Given the description of an element on the screen output the (x, y) to click on. 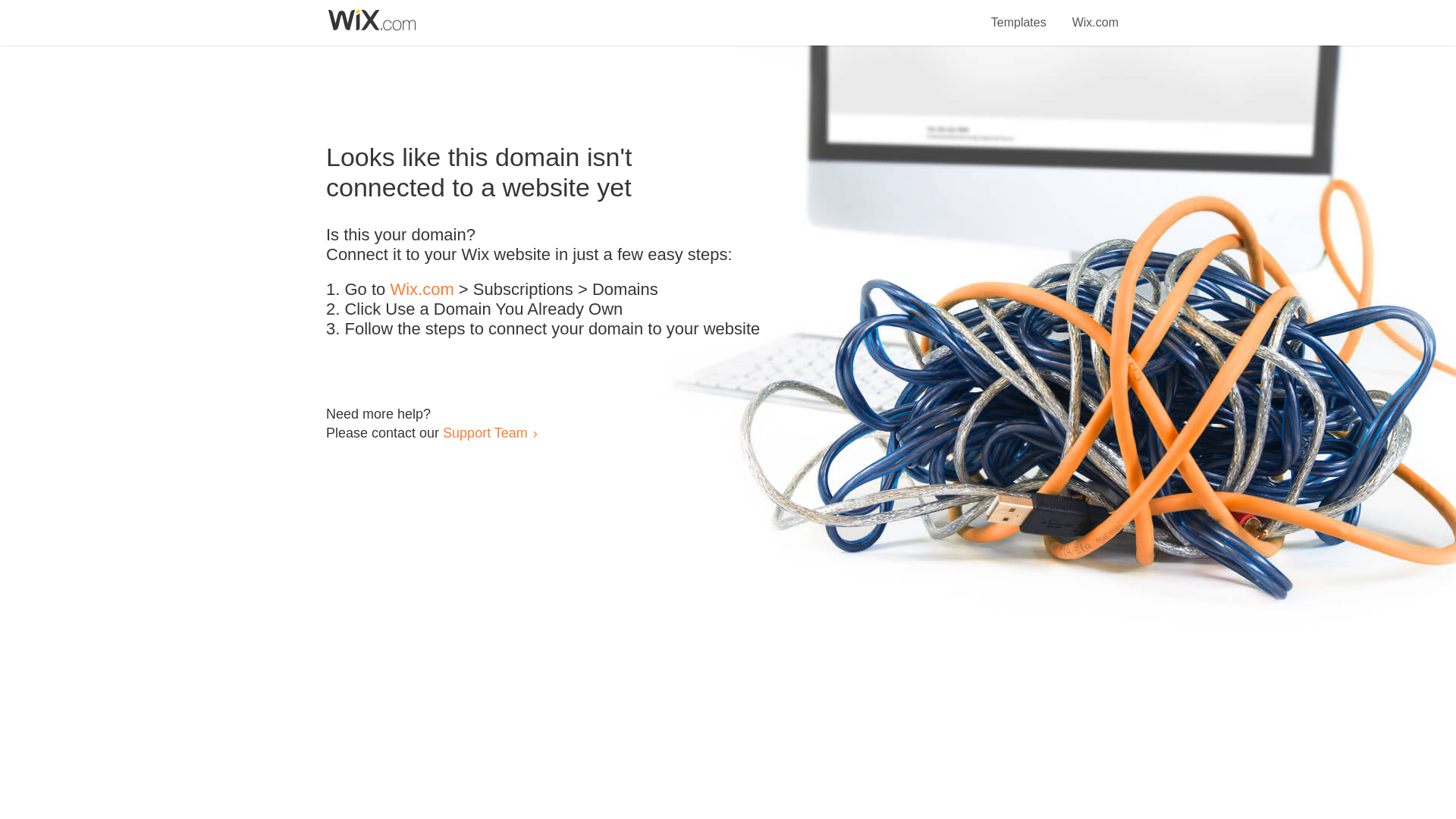
Wix.com (421, 289)
Wix.com (1095, 14)
Support Team (484, 432)
Templates (1018, 14)
